Given the description of an element on the screen output the (x, y) to click on. 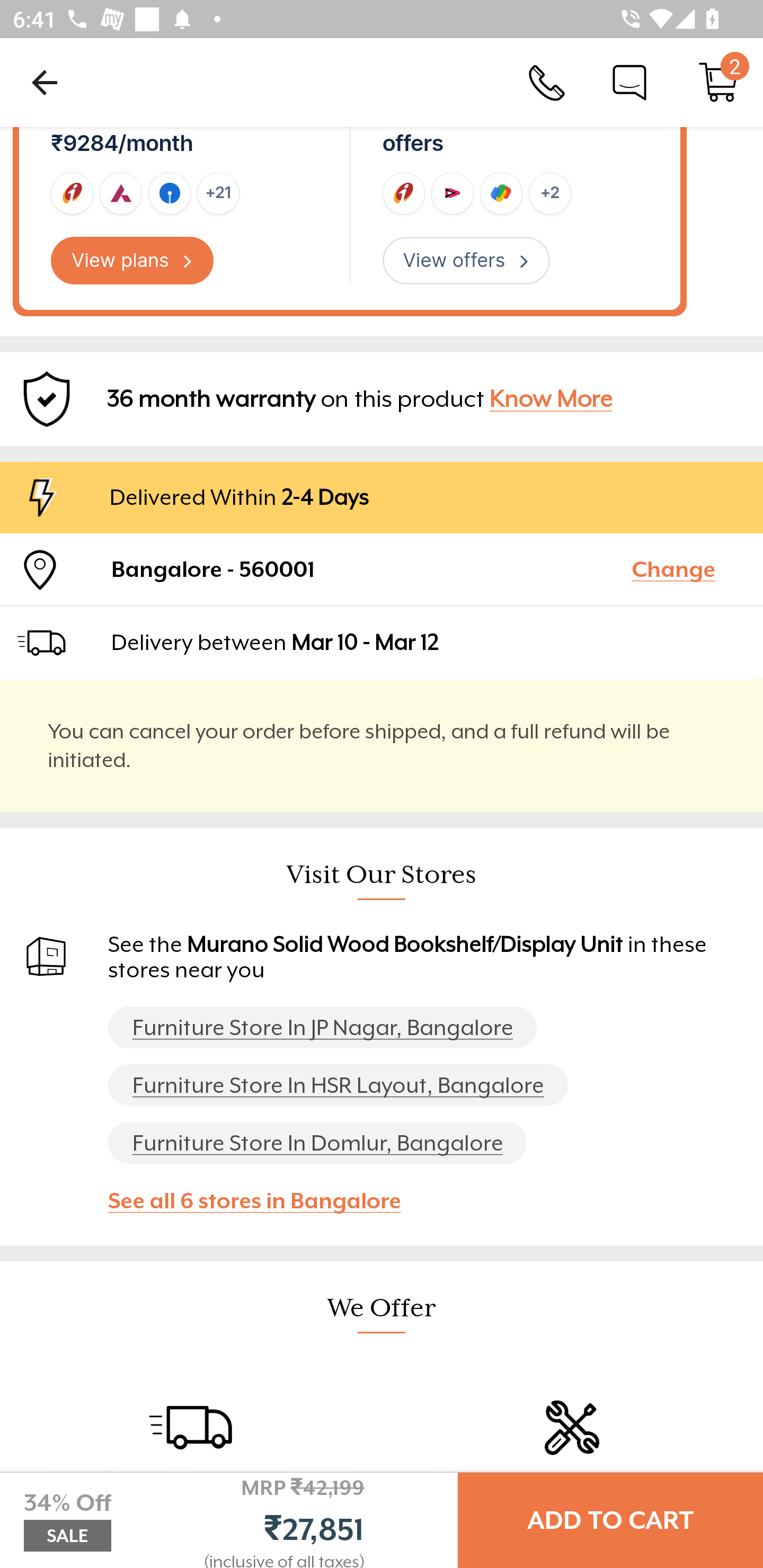
Navigate up (44, 82)
Call Us (546, 81)
Chat (629, 81)
Cart (718, 81)
View plans (132, 260)
View offers (465, 260)
36 month warranty on this product Know More (381, 398)
 Bangalore - 560001 Change (381, 569)
Delivery between Mar 10 - Mar 12 (428, 641)
Furniture Store In JP Nagar, Bangalore (322, 1027)
Furniture Store In HSR Layout, Bangalore (337, 1084)
Furniture Store In Domlur, Bangalore (317, 1142)
See all 6 stores in Bangalore (262, 1200)
ADD TO CART (610, 1520)
